Given the description of an element on the screen output the (x, y) to click on. 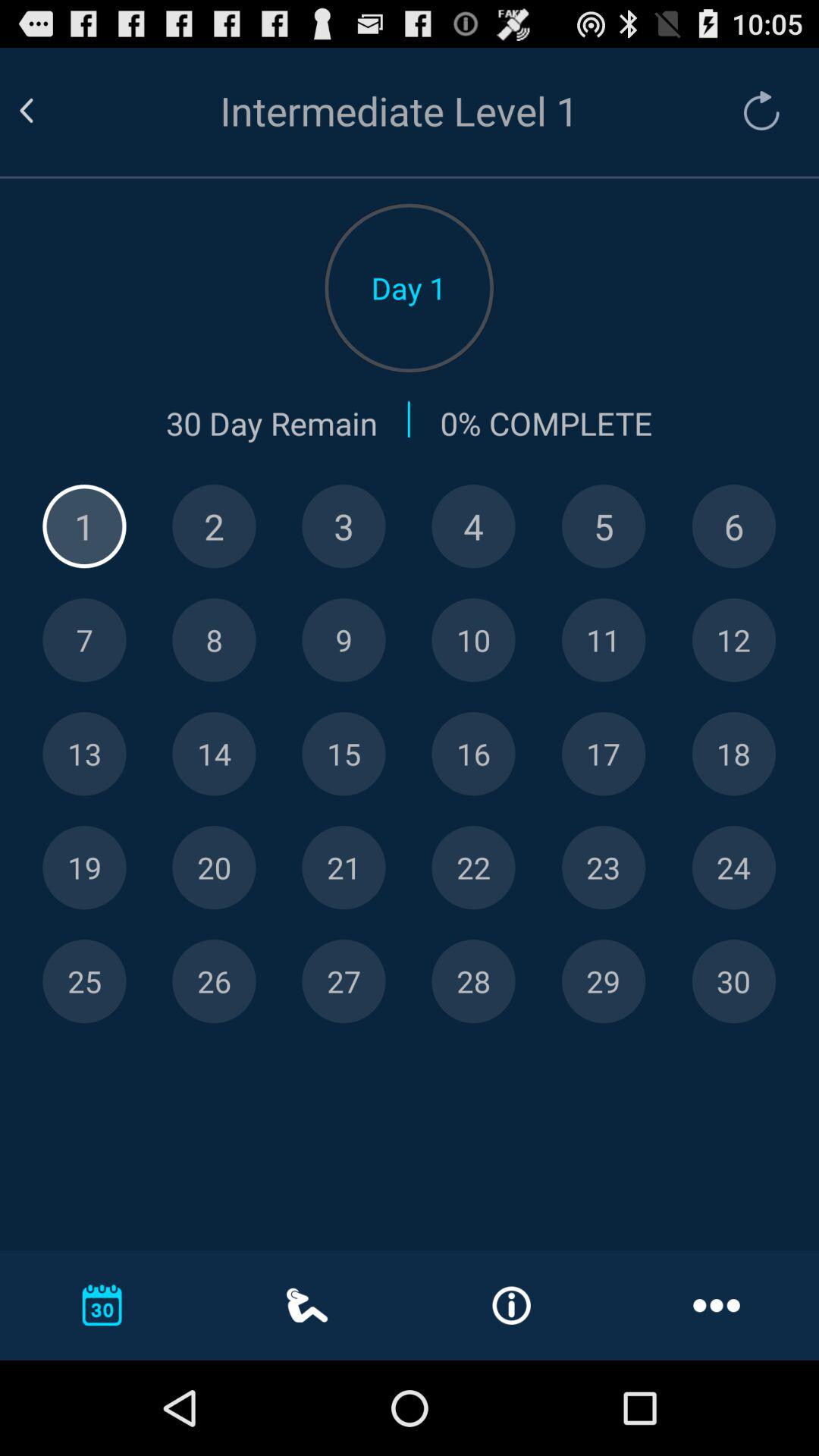
go back (44, 110)
